Given the description of an element on the screen output the (x, y) to click on. 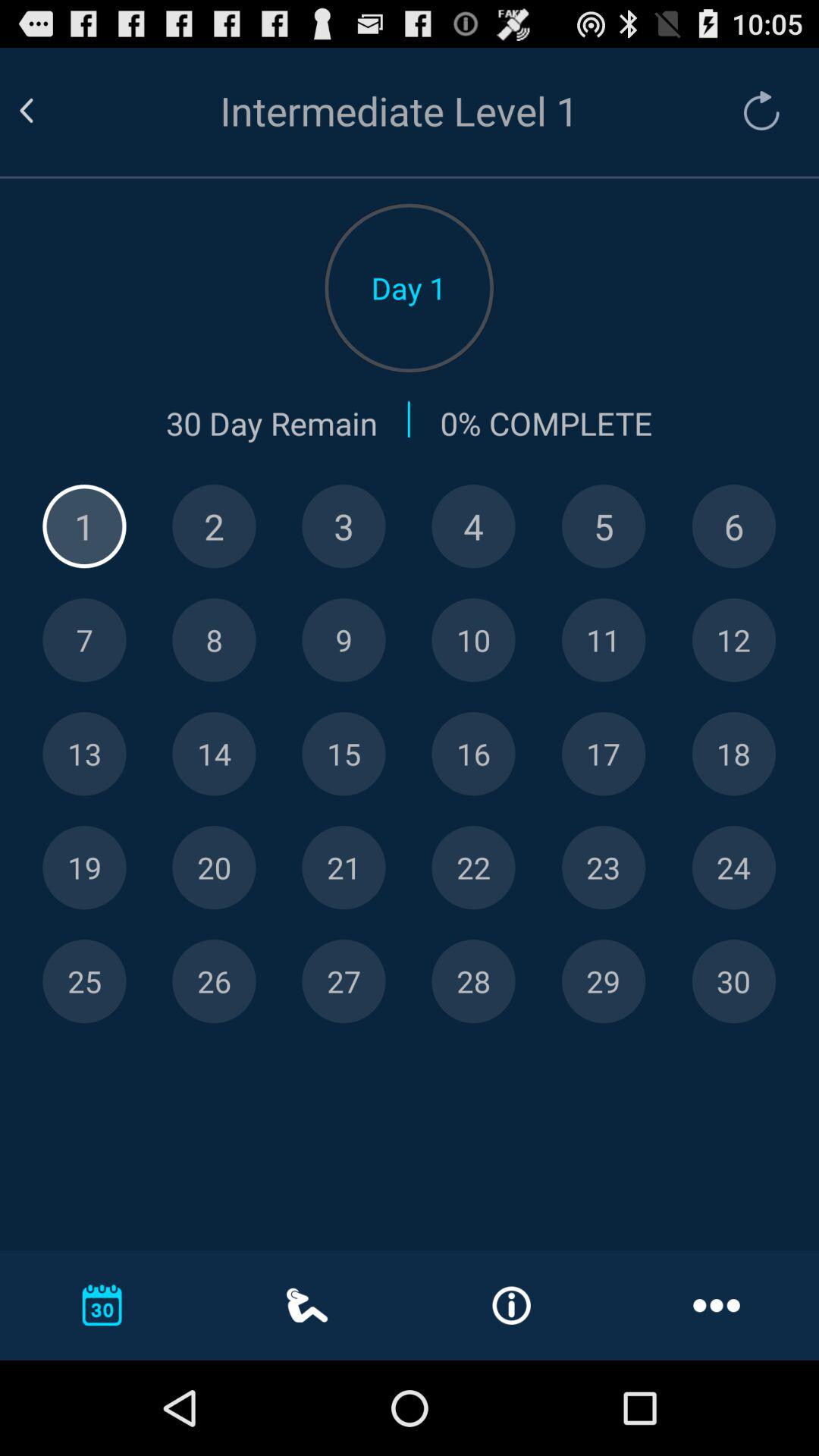
go back (44, 110)
